Given the description of an element on the screen output the (x, y) to click on. 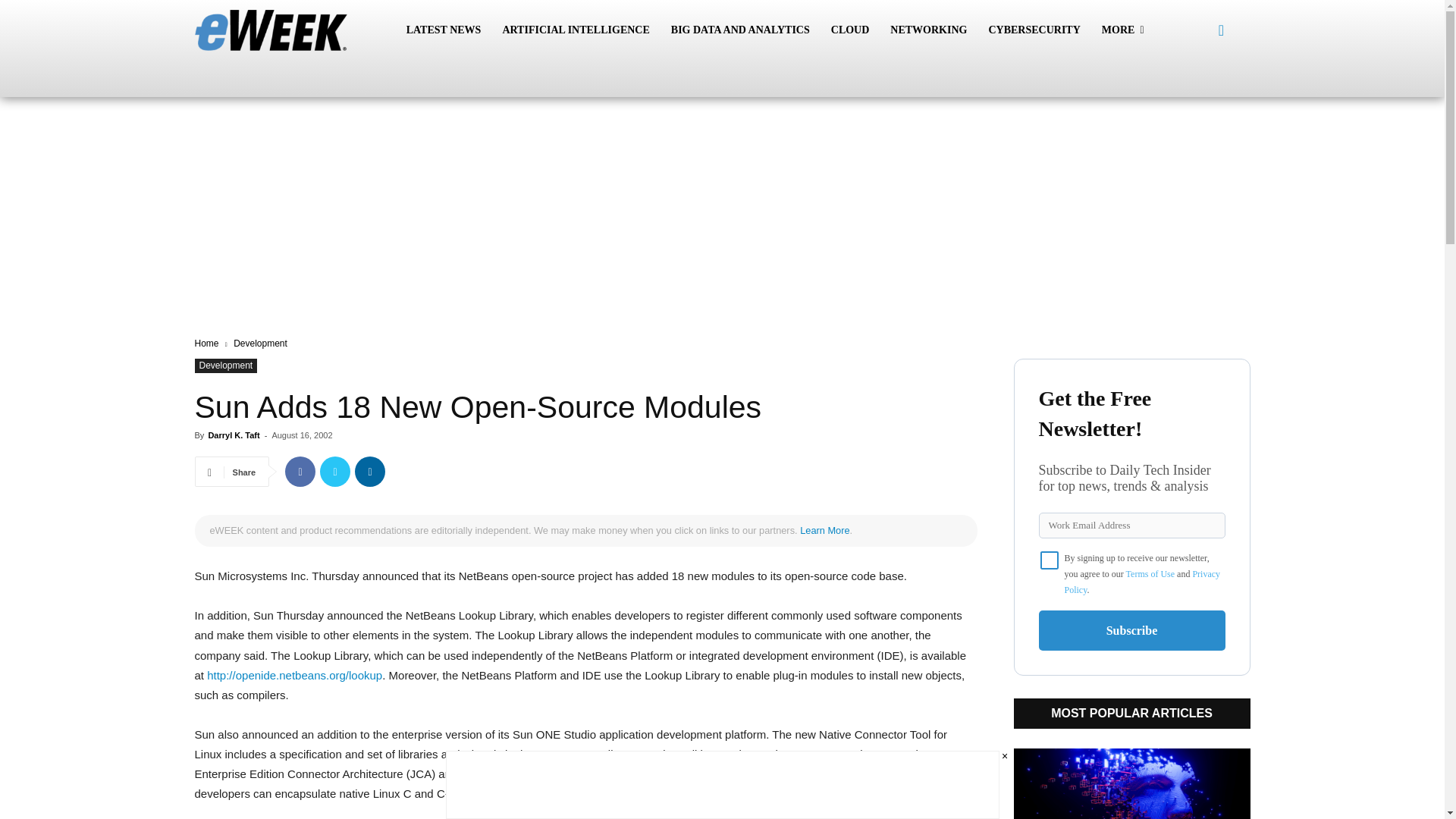
Facebook (300, 471)
on (1049, 560)
NETWORKING (927, 30)
Linkedin (370, 471)
BIG DATA AND ANALYTICS (741, 30)
CYBERSECURITY (1033, 30)
Twitter (335, 471)
ARTIFICIAL INTELLIGENCE (575, 30)
CLOUD (850, 30)
LATEST NEWS (444, 30)
